Given the description of an element on the screen output the (x, y) to click on. 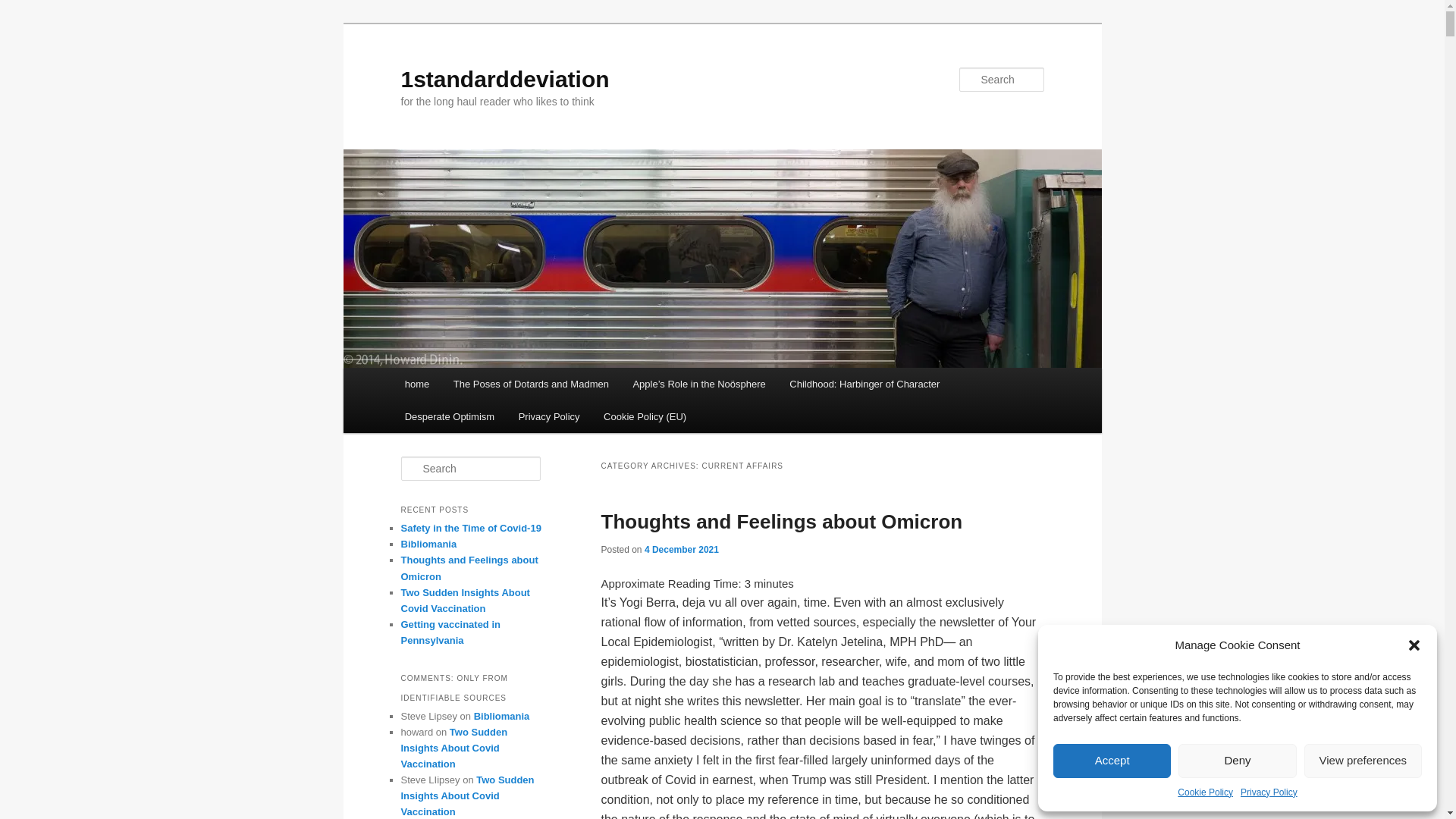
Cookie Policy (EU) Element type: text (644, 416)
Two Sudden Insights About Covid Vaccination Element type: text (466, 795)
Getting vaccinated in Pennsylvania Element type: text (449, 632)
Desperate Optimism Element type: text (449, 416)
home Element type: text (416, 383)
Cookie Policy Element type: text (1205, 792)
Privacy Policy Element type: text (1268, 792)
Search Element type: text (20, 10)
Two Sudden Insights About Covid Vaccination Element type: text (453, 747)
Childhood: Harbinger of Character Element type: text (865, 383)
Safety in the Time of Covid-19 Element type: text (470, 527)
Skip to primary content Element type: text (22, 22)
Deny Element type: text (1236, 760)
Bibliomania Element type: text (428, 543)
1standarddeviation Element type: text (504, 78)
View preferences Element type: text (1362, 760)
The Poses of Dotards and Madmen Element type: text (531, 383)
4 December 2021 Element type: text (681, 549)
Thoughts and Feelings about Omicron Element type: text (781, 521)
Accept Element type: text (1111, 760)
Thoughts and Feelings about Omicron Element type: text (468, 567)
Privacy Policy Element type: text (548, 416)
Two Sudden Insights About Covid Vaccination Element type: text (464, 600)
Search Element type: text (24, 8)
Bibliomania Element type: text (501, 715)
